Given the description of an element on the screen output the (x, y) to click on. 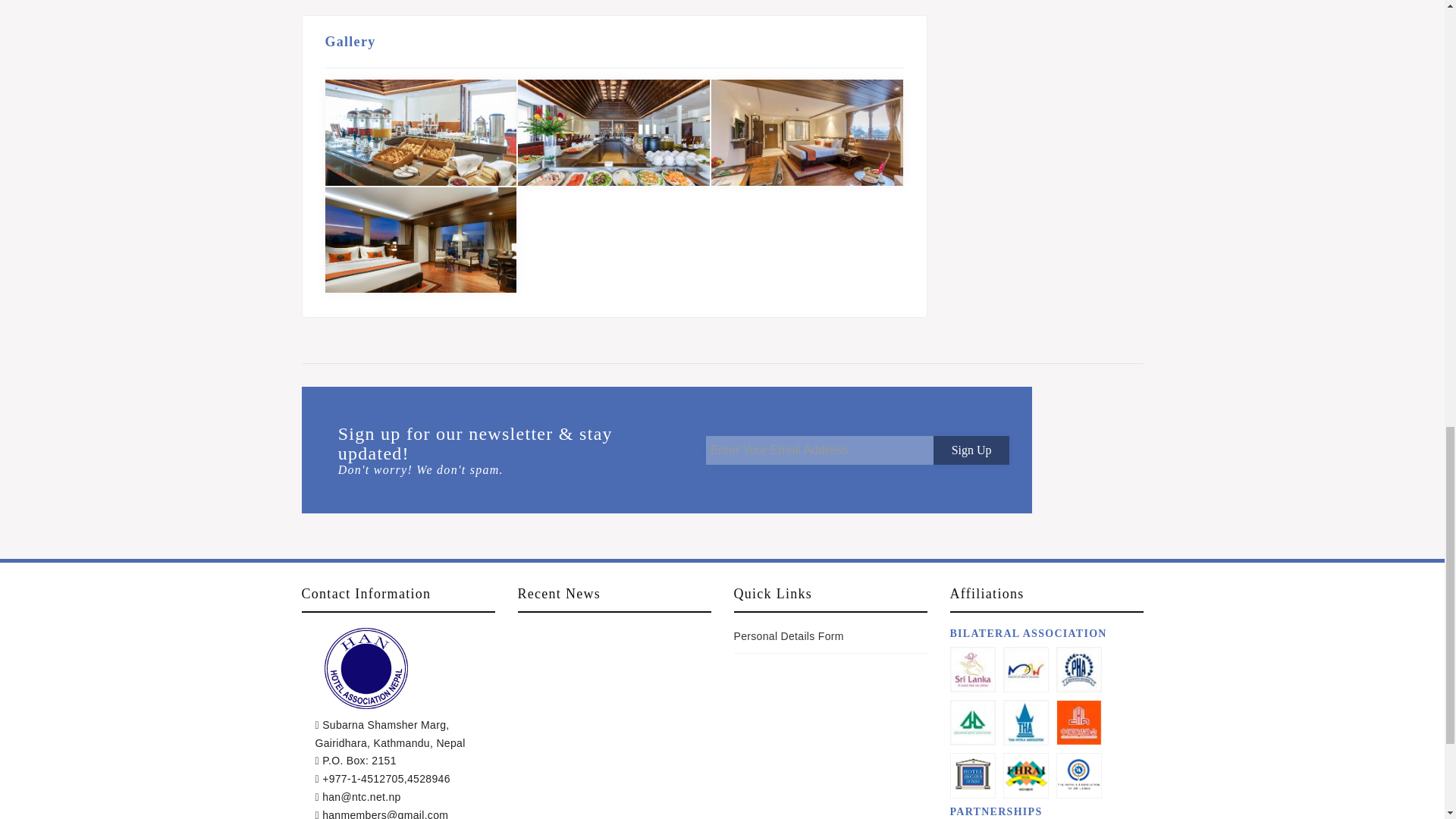
China Hotel Association (1077, 722)
Singapore Hotel Association (972, 722)
Pakistan Hotels Association (1077, 669)
Thai Hotel Association (1026, 722)
Sign Up (971, 450)
Thai Hotel Association (1025, 722)
Hotel Association of India (971, 775)
Singapore Hotel Association (971, 722)
Pakistan Hotels Association (1078, 669)
China Hotel Association (1078, 722)
Sri Lanka - A land like no other (971, 669)
Hotel Association Nepal (365, 667)
Sri Lanka - A land like no other (972, 669)
Malaysian Association Of Hotel (1025, 669)
Malaysian Association Of Hotel (1026, 669)
